Given the description of an element on the screen output the (x, y) to click on. 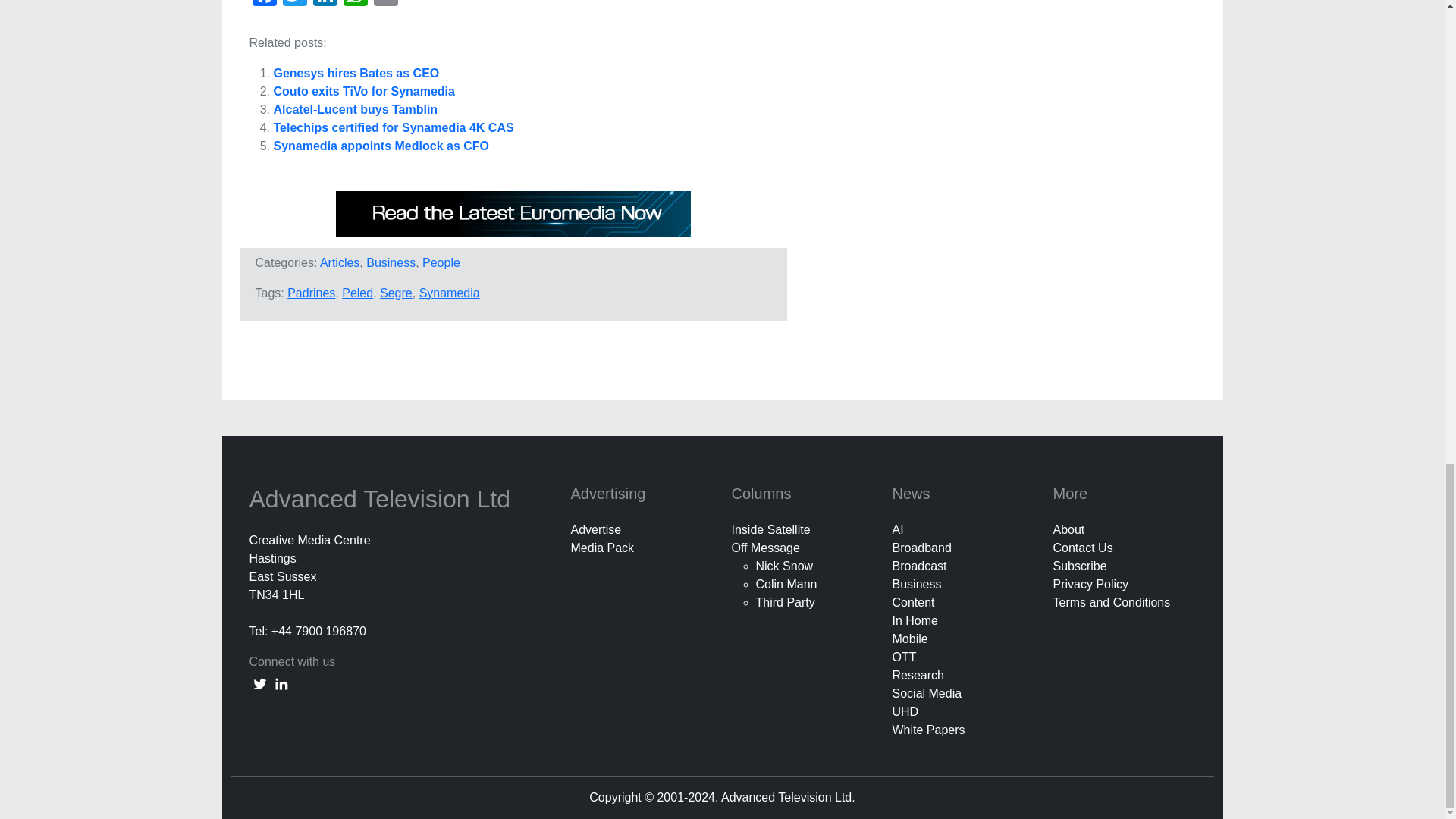
LinkedIn (323, 4)
Genesys hires Bates as CEO (356, 72)
Synamedia appoints Medlock as CFO (381, 145)
Facebook (263, 4)
Synamedia (449, 292)
WhatsApp (354, 4)
Facebook (263, 4)
Email (384, 4)
Alcatel-Lucent buys Tamblin (355, 109)
Business (390, 262)
Email (384, 4)
Genesys hires Bates as CEO (356, 72)
Twitter (293, 4)
Synamedia appoints Medlock as CFO (381, 145)
Telechips certified for Synamedia 4K CAS (393, 127)
